Given the description of an element on the screen output the (x, y) to click on. 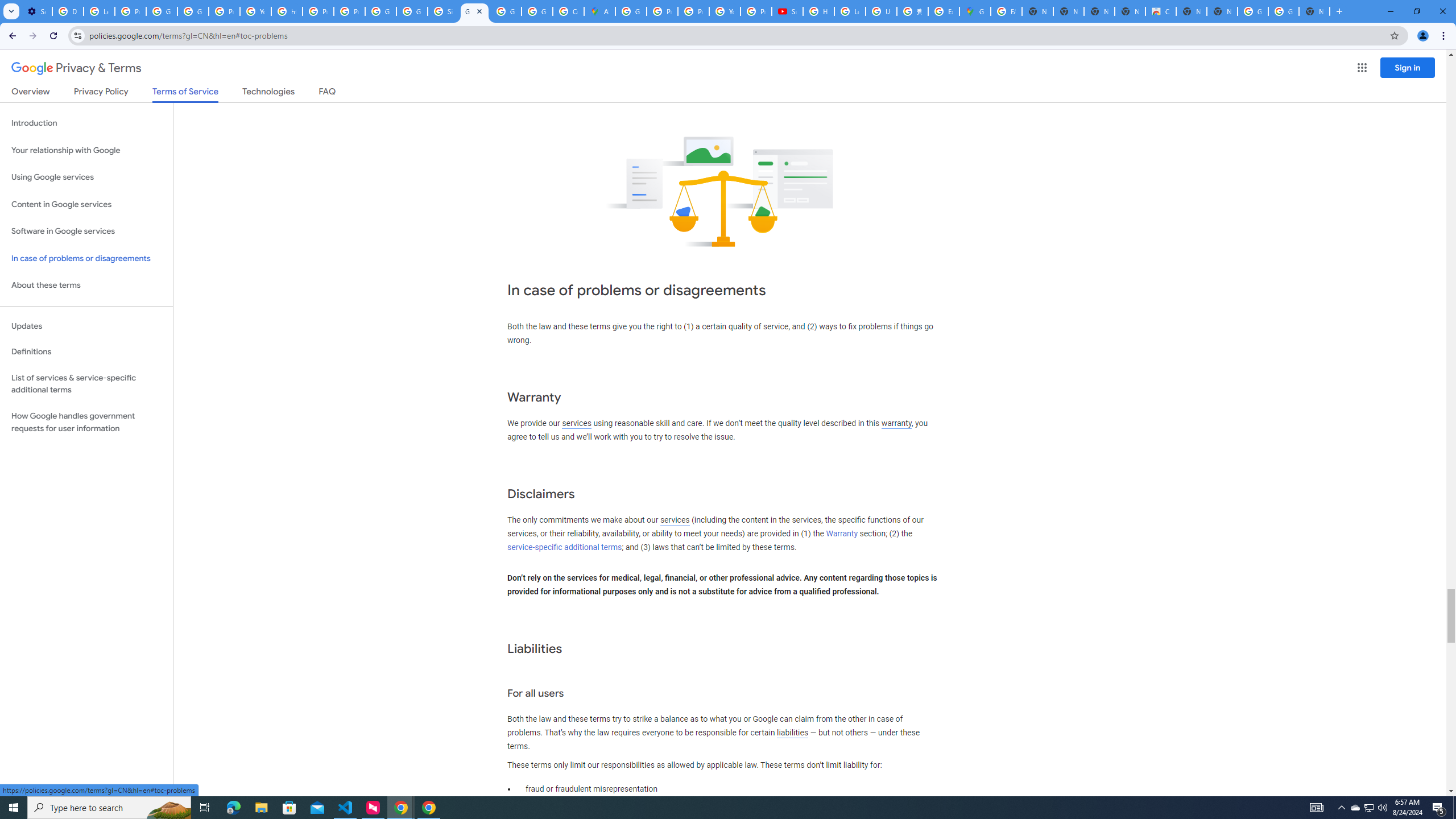
Google Account Help (161, 11)
System (6, 6)
Privacy & Terms (76, 68)
Privacy Help Center - Policies Help (318, 11)
Terms of Service (184, 94)
Close (479, 11)
liabilities (792, 732)
Delete photos & videos - Computer - Google Photos Help (67, 11)
Google Maps (974, 11)
Sign in (1407, 67)
Subscriptions - YouTube (787, 11)
Software in Google services (86, 230)
Address and search bar (735, 35)
